Given the description of an element on the screen output the (x, y) to click on. 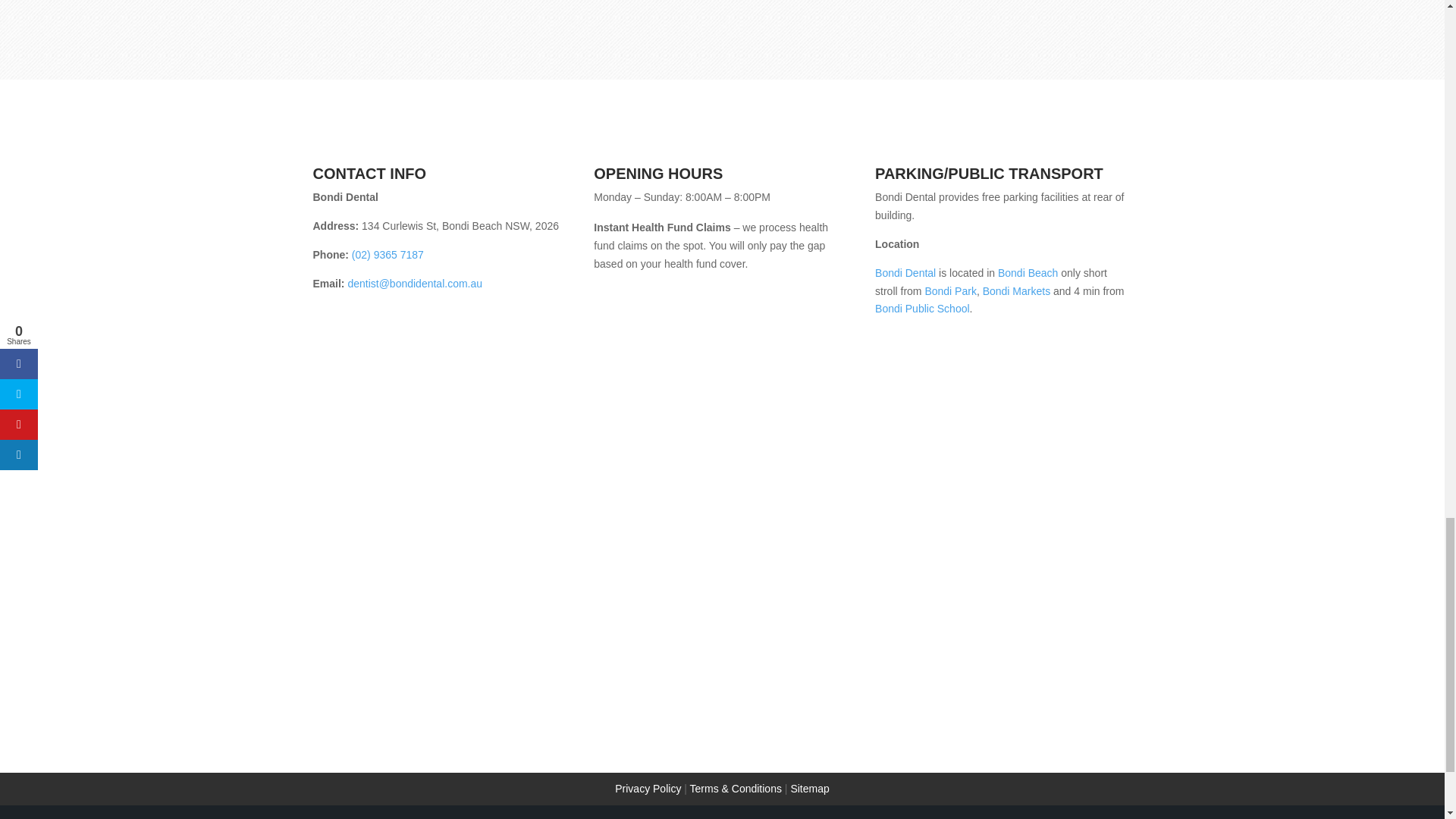
Privacy Policy (647, 788)
